Given the description of an element on the screen output the (x, y) to click on. 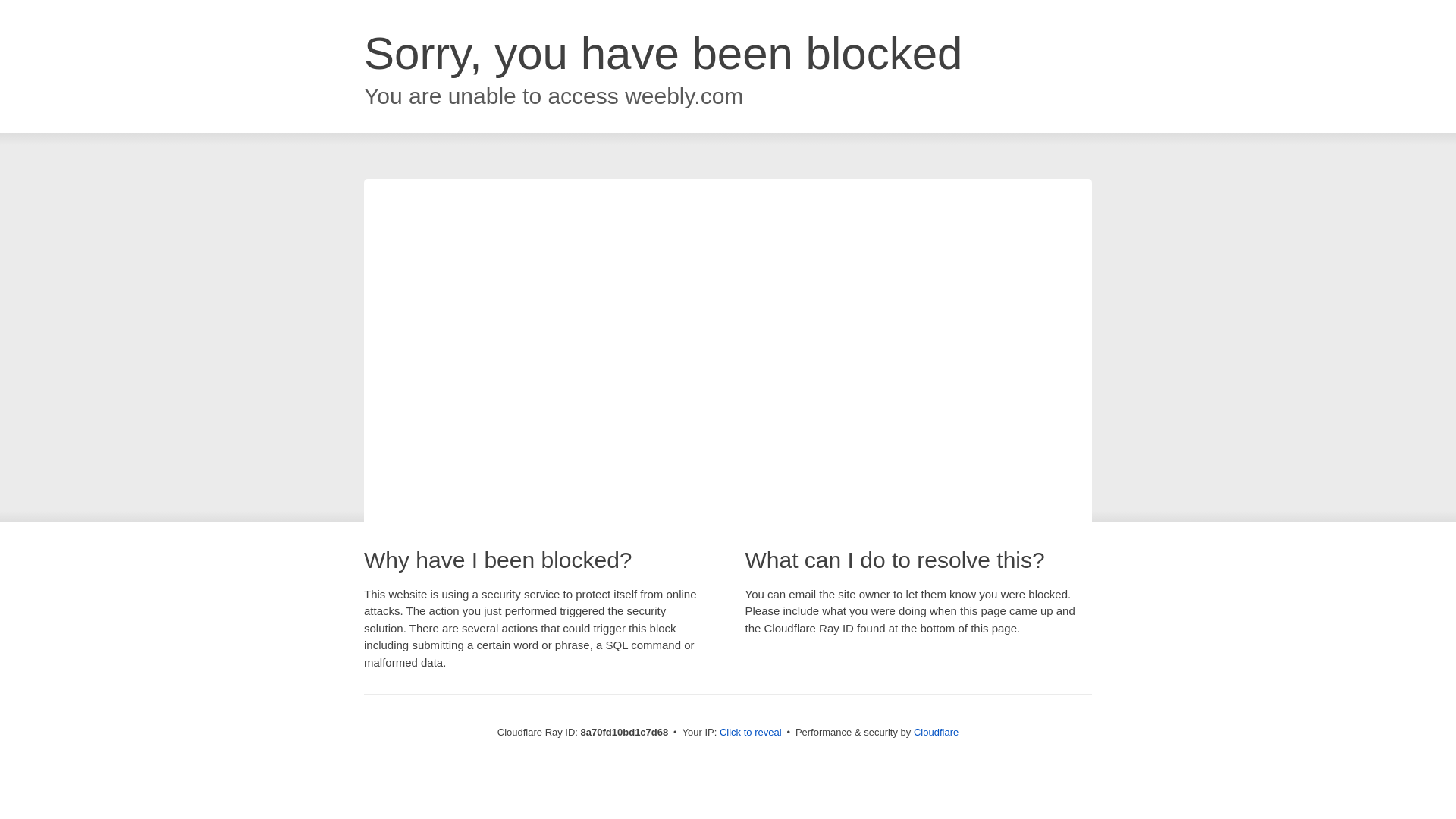
Click to reveal (750, 732)
Cloudflare (936, 731)
